Given the description of an element on the screen output the (x, y) to click on. 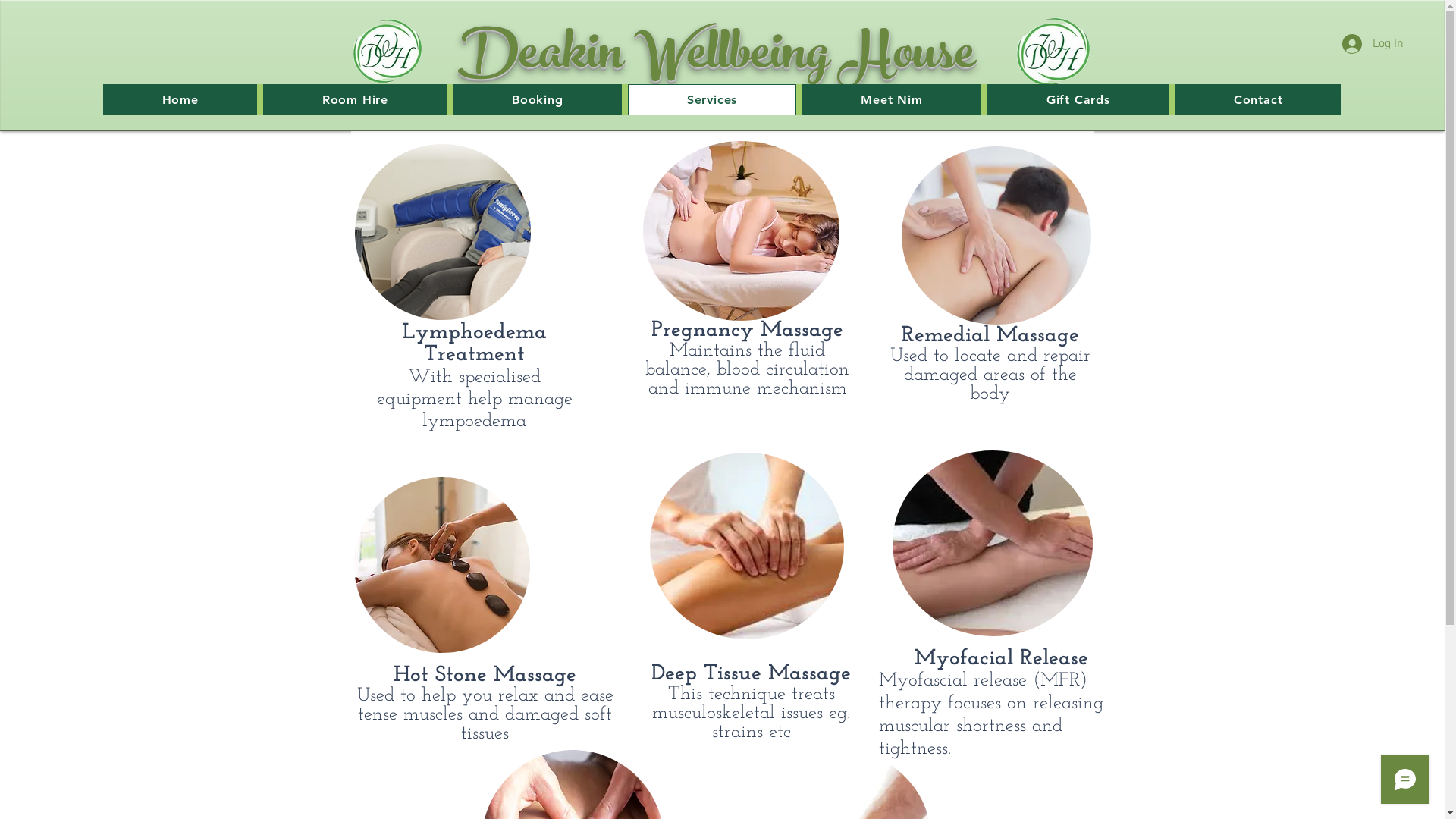
Booking Element type: text (537, 99)
Services Element type: text (711, 99)
Meet Nim Element type: text (891, 99)
Home Element type: text (180, 99)
Room Hire Element type: text (354, 99)
Gift Cards Element type: text (1077, 99)
Log In Element type: text (1372, 43)
Contact Element type: text (1257, 99)
